Given the description of an element on the screen output the (x, y) to click on. 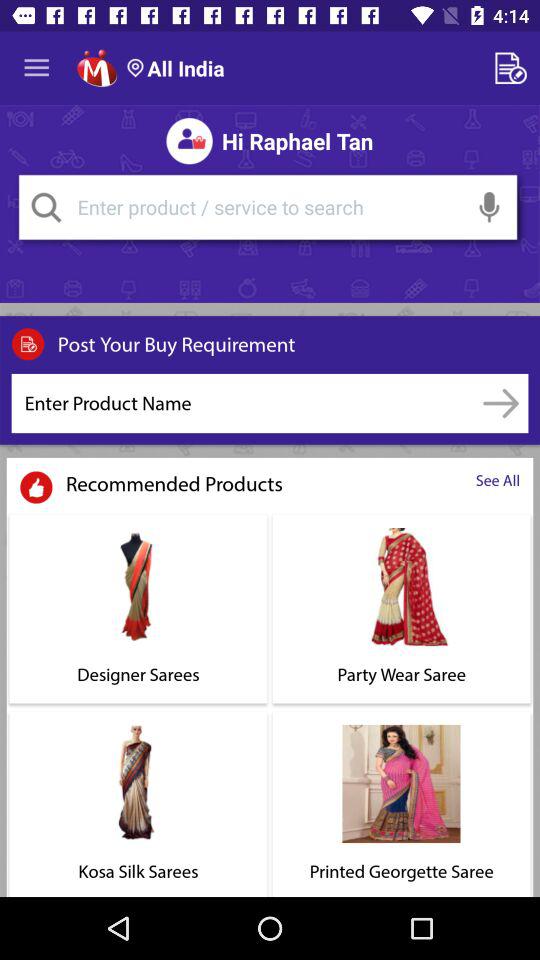
go to home page (96, 67)
